Given the description of an element on the screen output the (x, y) to click on. 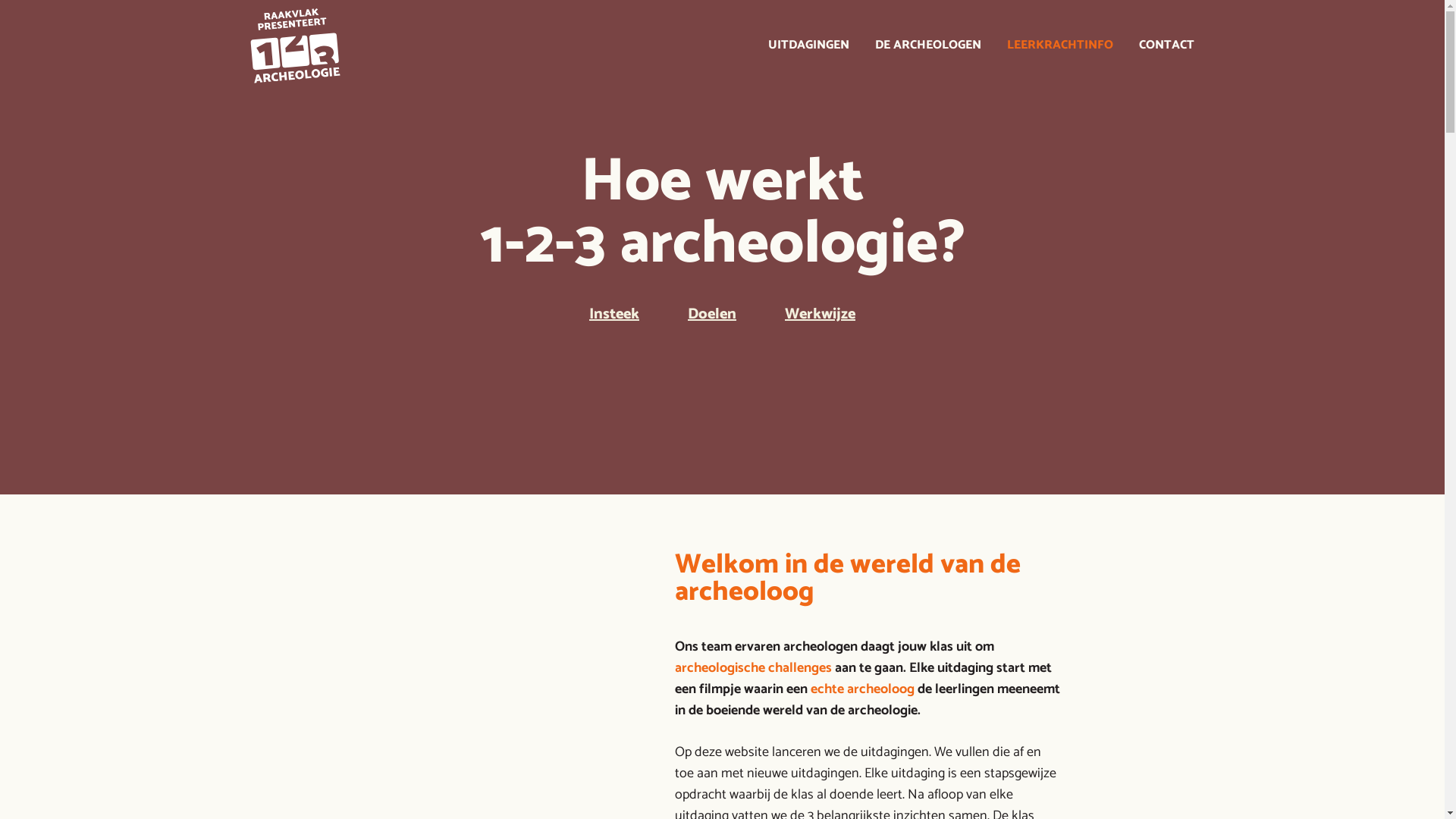
Werkwijze Element type: text (819, 313)
DE ARCHEOLOGEN Element type: text (928, 45)
CONTACT Element type: text (1160, 45)
Insteek Element type: text (614, 313)
Doelen Element type: text (711, 313)
LEERKRACHTINFO Element type: text (1060, 45)
UITDAGINGEN Element type: text (808, 45)
